Given the description of an element on the screen output the (x, y) to click on. 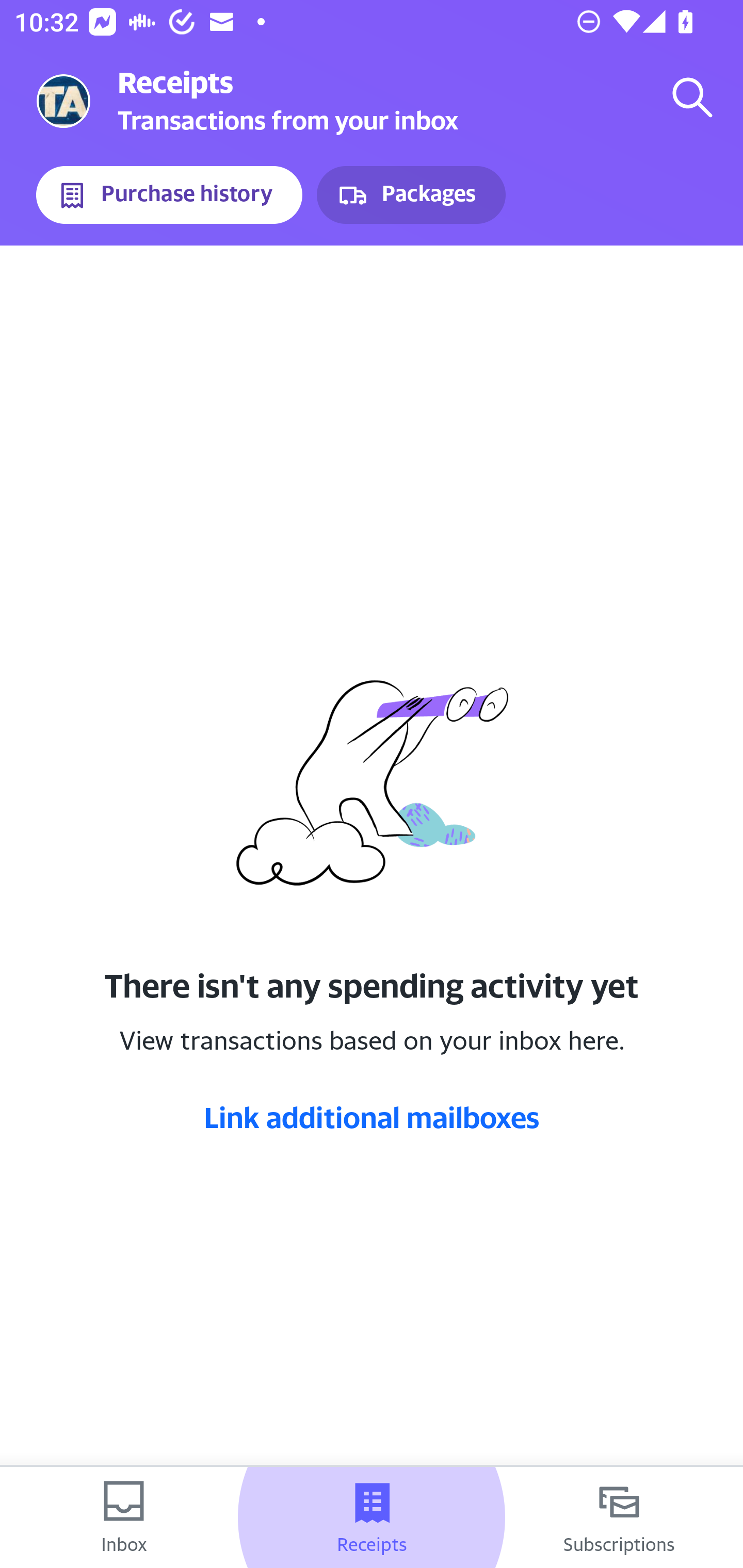
Search mail (692, 97)
Packages (410, 195)
Link additional mailboxes (371, 1117)
Inbox (123, 1517)
Receipts (371, 1517)
Subscriptions (619, 1517)
